Given the description of an element on the screen output the (x, y) to click on. 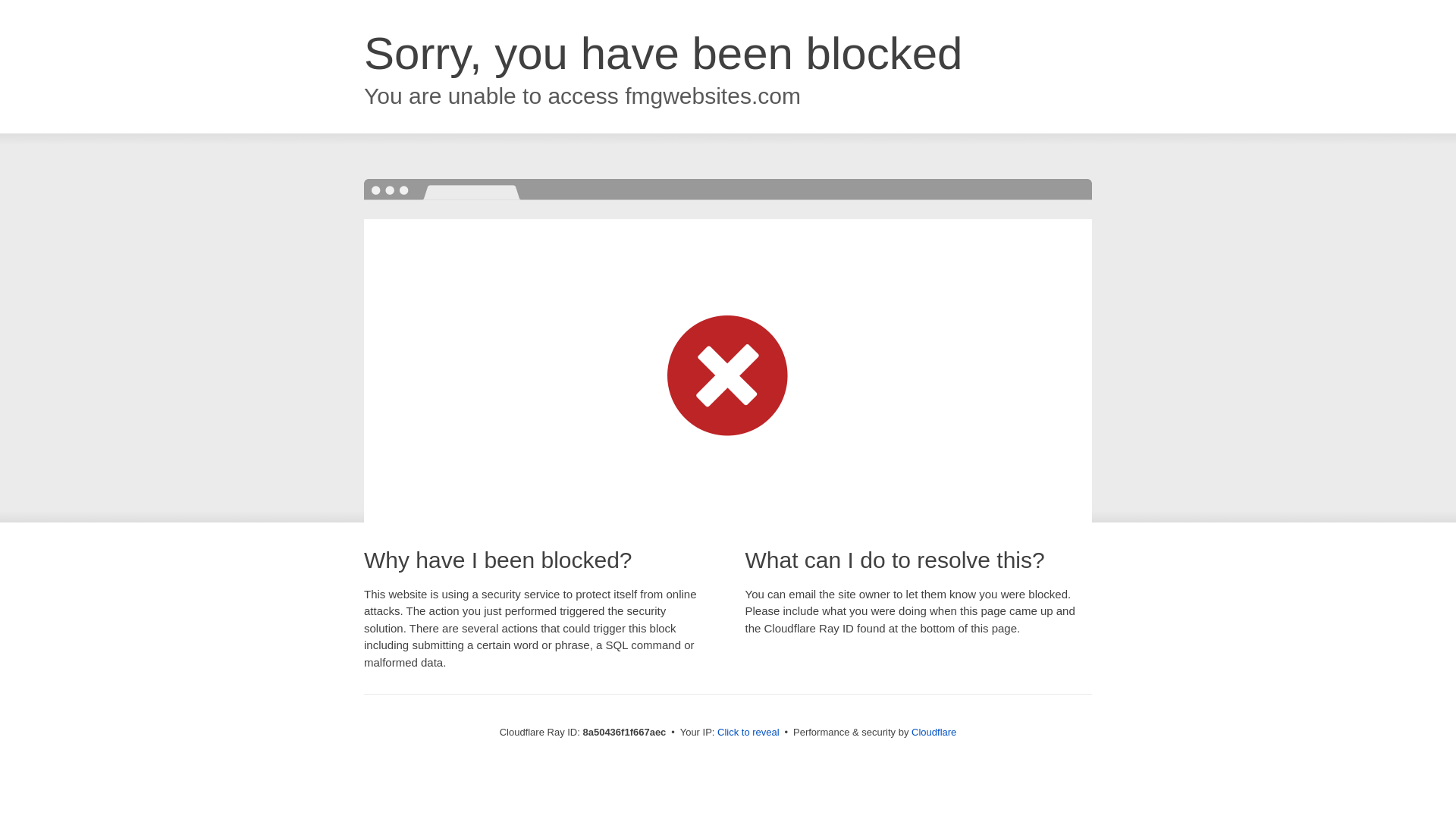
Cloudflare (933, 731)
Click to reveal (747, 732)
